Given the description of an element on the screen output the (x, y) to click on. 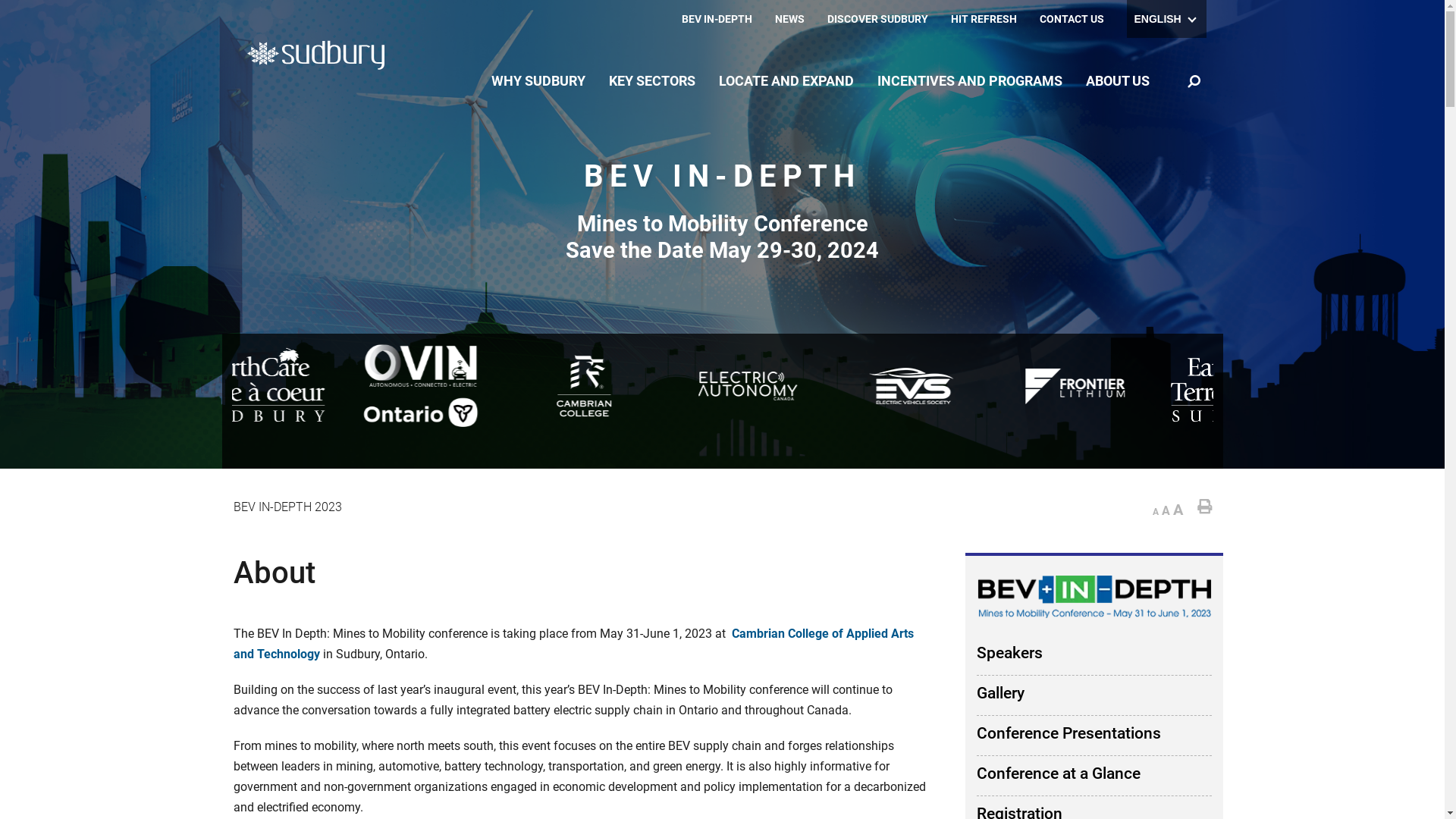
BEV_LOGO MAYJUNE_ENG Element type: hover (1093, 582)
BEV IN-DEPTH Element type: text (715, 18)
INCENTIVES AND PROGRAMS Element type: text (969, 80)
Speakers Element type: text (1093, 659)
ABOUT US Element type: text (1116, 80)
Conference at a Glance Element type: text (1093, 779)
KEY SECTORS Element type: text (651, 80)
CONTACT US Element type: text (1070, 18)
NEWS Element type: text (789, 18)
WHY SUDBURY Element type: text (537, 80)
DISCOVER SUDBURY Element type: text (876, 18)
LOCATE AND EXPAND Element type: text (785, 80)
Gallery Element type: text (1093, 699)
HIT REFRESH Element type: text (983, 18)
Conference Presentations Element type: text (1093, 739)
 Cambrian College of Applied Arts and Technology Element type: text (573, 643)
